Given the description of an element on the screen output the (x, y) to click on. 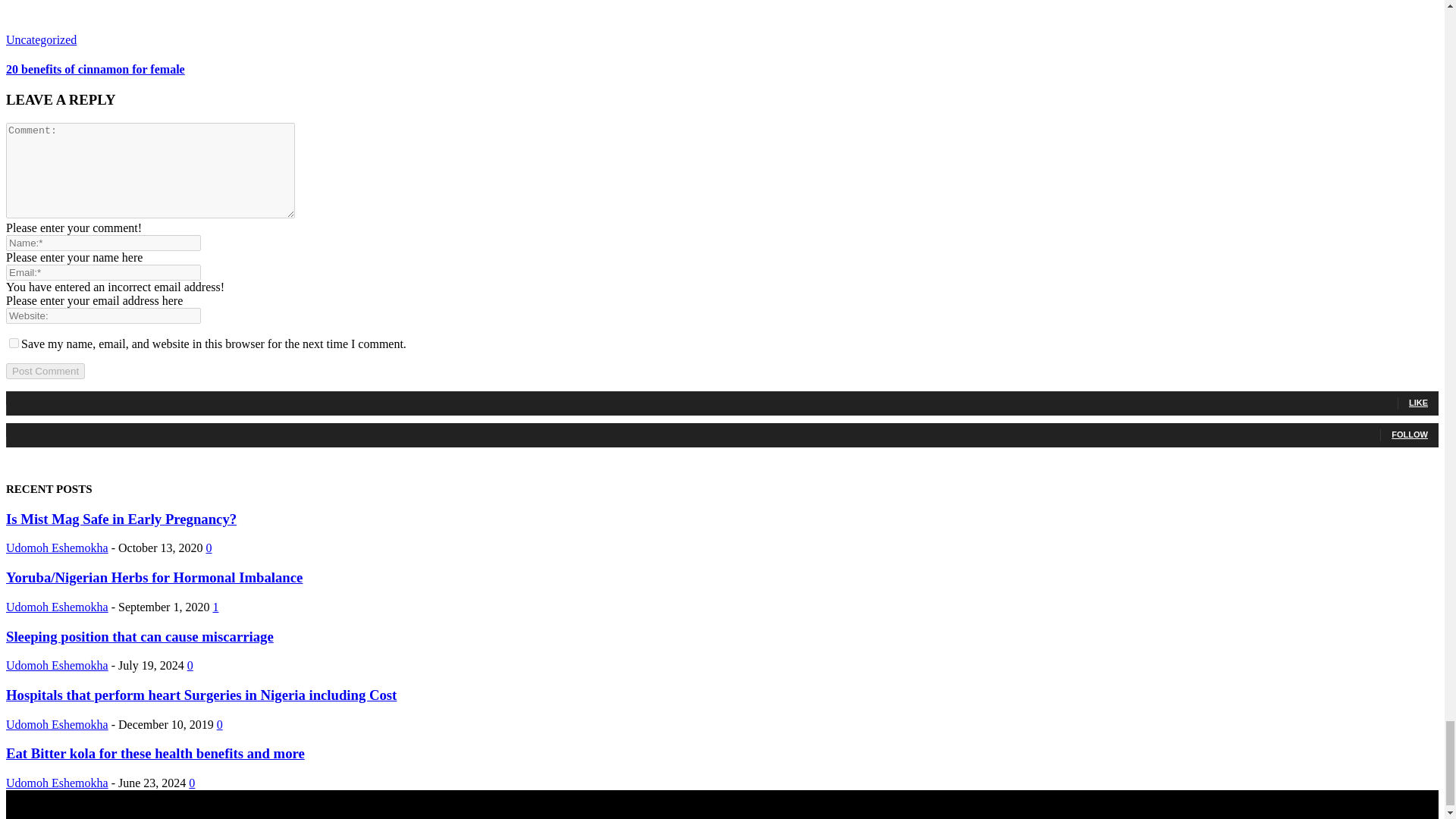
yes (13, 343)
Post Comment (44, 371)
